Given the description of an element on the screen output the (x, y) to click on. 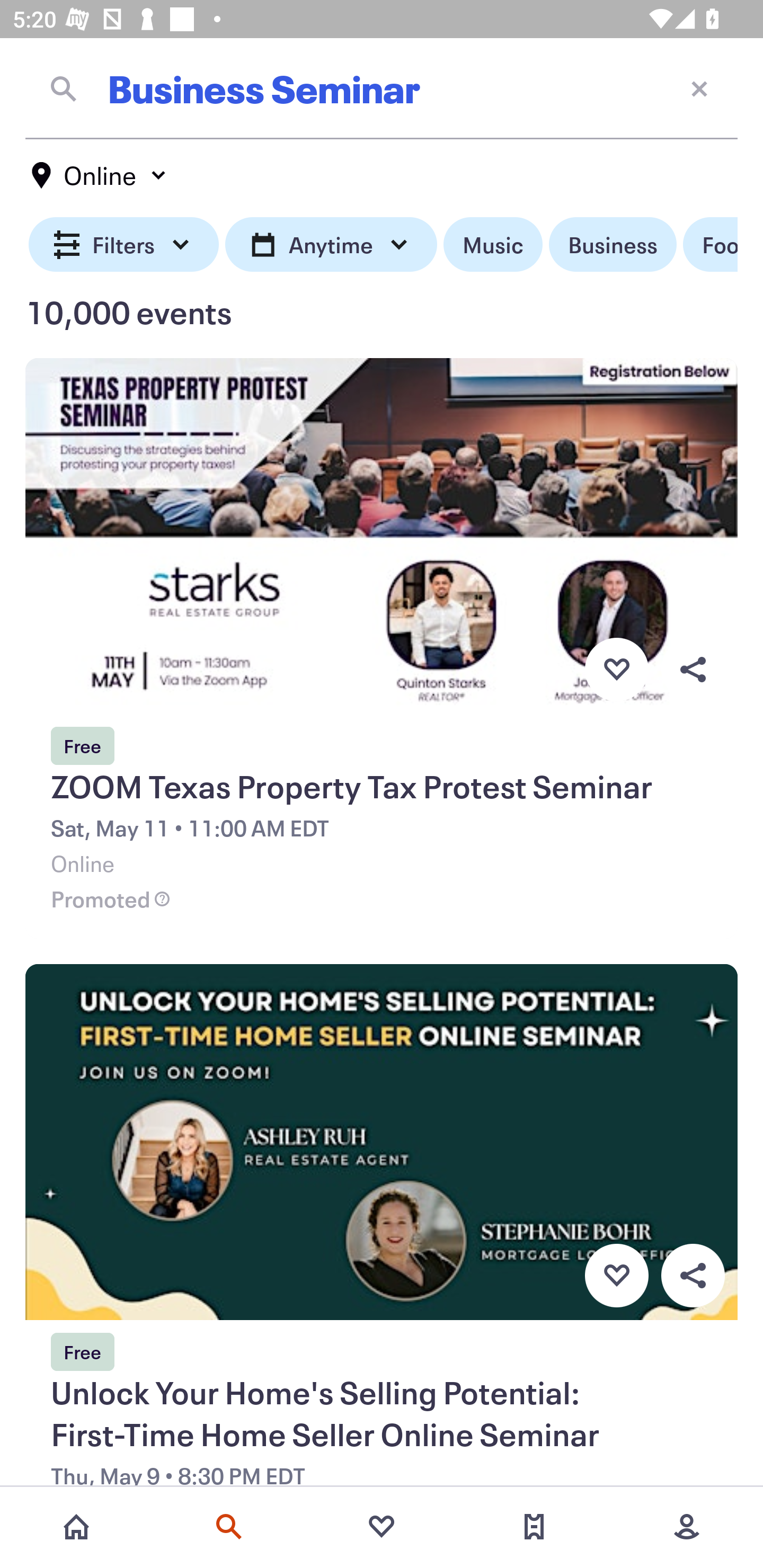
Business Seminar Close current screen (381, 88)
Close current screen (699, 88)
Online (99, 175)
Filters (123, 244)
Anytime (331, 244)
Music (492, 244)
Business (612, 244)
Favorite button (616, 669)
Overflow menu button (692, 669)
Favorite button (616, 1275)
Overflow menu button (692, 1275)
Home (76, 1526)
Search events (228, 1526)
Favorites (381, 1526)
Tickets (533, 1526)
More (686, 1526)
